Given the description of an element on the screen output the (x, y) to click on. 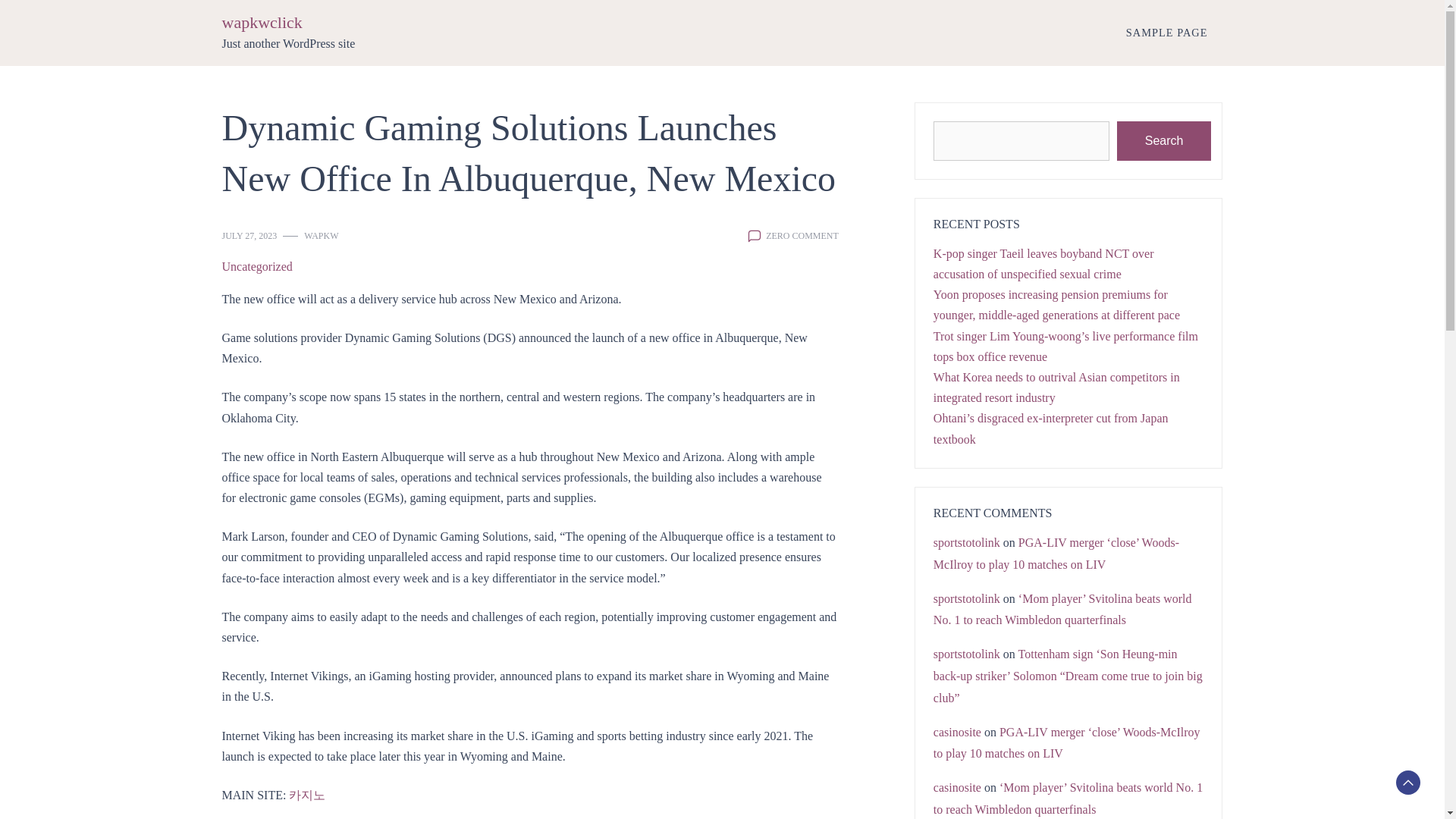
casinosite (957, 731)
SAMPLE PAGE (1166, 32)
sportstotolink (966, 598)
Search (1163, 140)
wapkwclick (261, 22)
casinosite (957, 787)
ZERO COMMENT (801, 235)
